Given the description of an element on the screen output the (x, y) to click on. 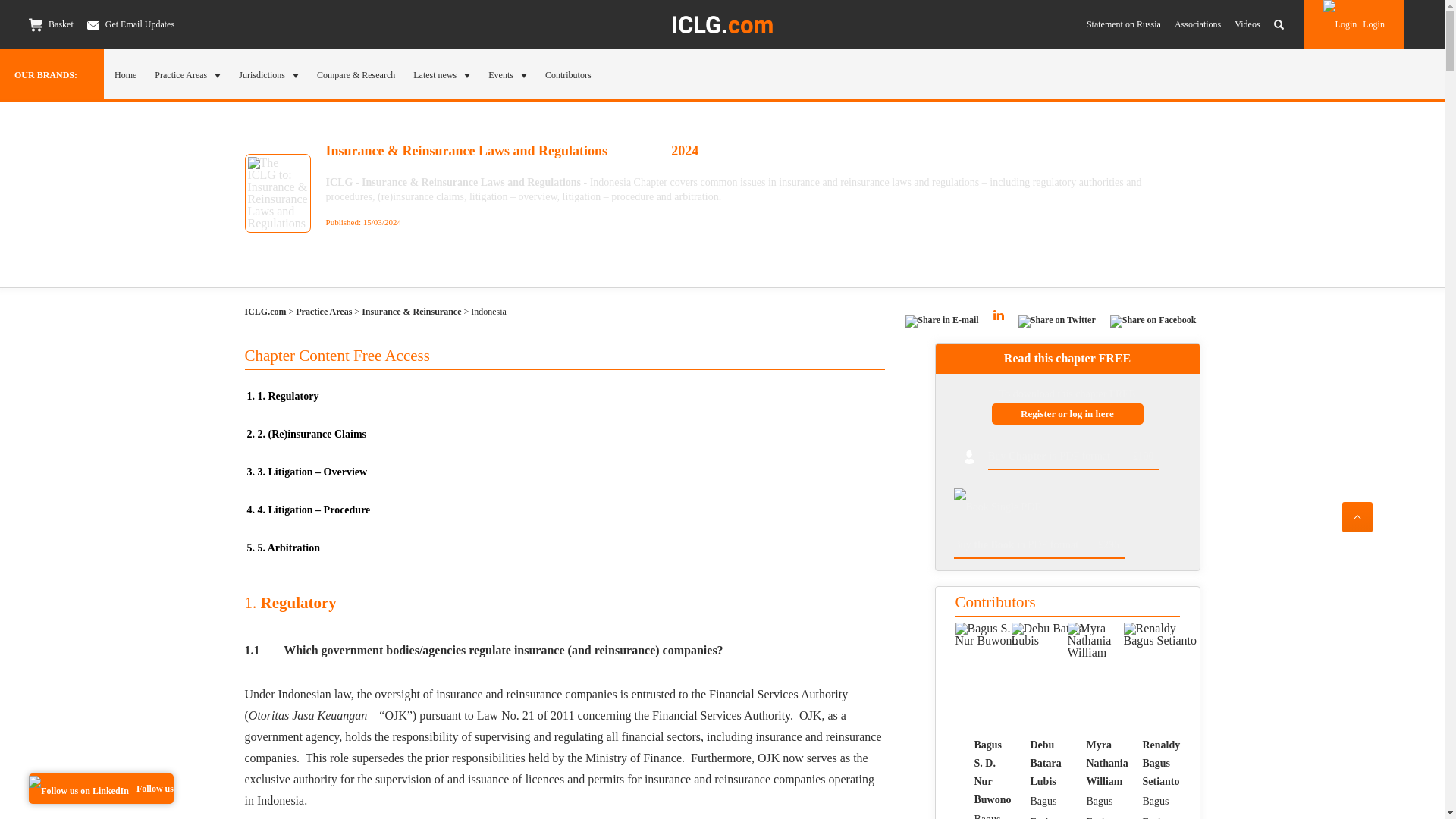
Get Email Updates (130, 24)
View basket (35, 24)
Send this link in email (941, 324)
Login (1354, 24)
Associations (1197, 24)
OUR BRANDS: (51, 74)
Share on Twitter (1056, 324)
Basket (51, 24)
Latest news (441, 74)
Share on Facebook (1152, 324)
